Given the description of an element on the screen output the (x, y) to click on. 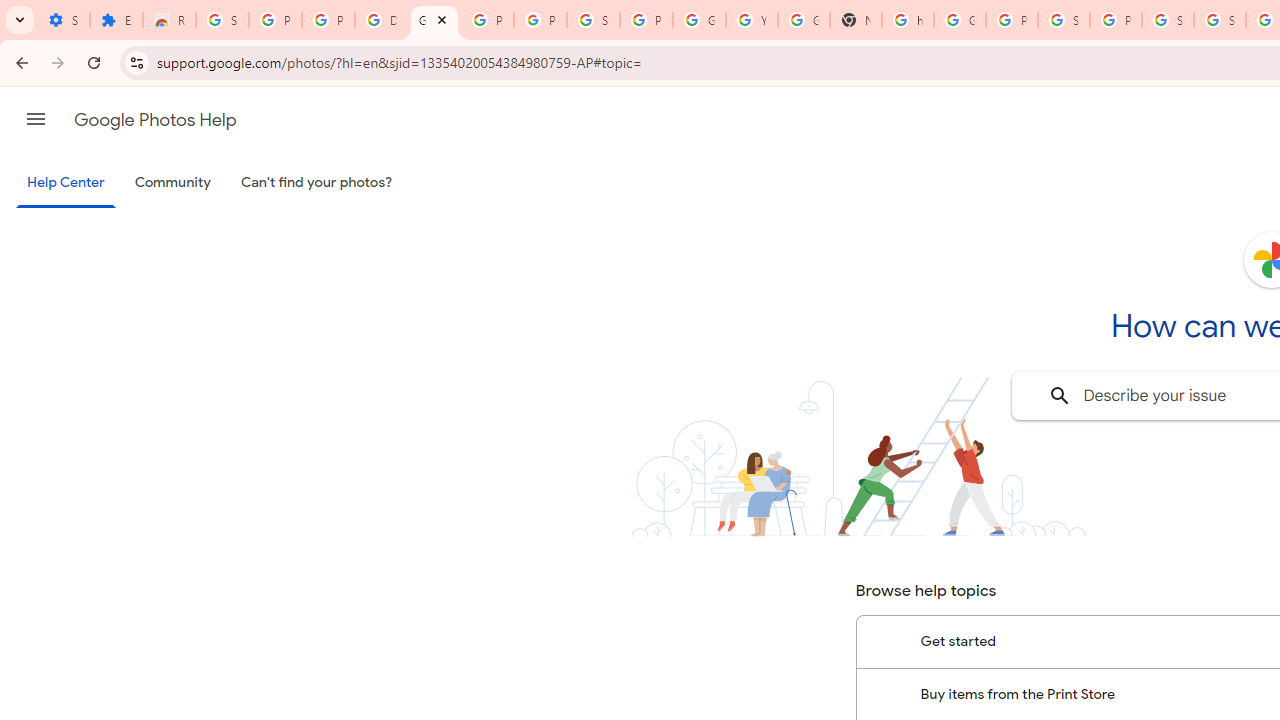
New Tab (855, 20)
Settings - On startup (63, 20)
https://scholar.google.com/ (907, 20)
Main menu (35, 119)
Reviews: Helix Fruit Jump Arcade Game (169, 20)
Can't find your photos? (317, 183)
Google Account (699, 20)
